Given the description of an element on the screen output the (x, y) to click on. 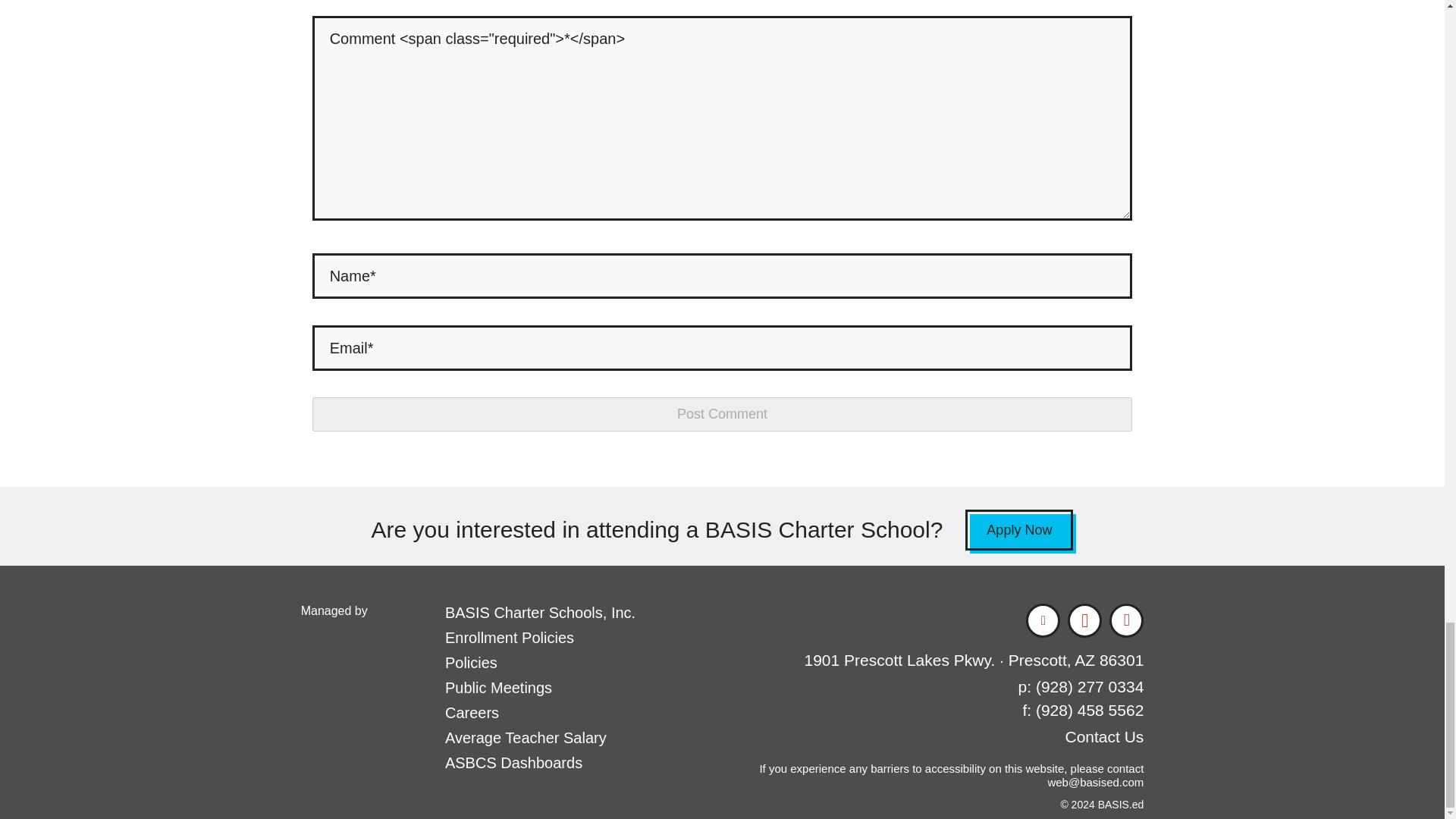
Post Comment (722, 414)
Instagram (1126, 620)
Public Meetings (498, 687)
Post Comment (722, 414)
Arizona (1084, 660)
Parkway (973, 660)
Contact Us (1103, 736)
Twitter (1042, 620)
Policies (471, 662)
Average Teacher Salary (526, 737)
Apply Now (1019, 529)
Careers (472, 712)
ASBCS Dashboards (513, 762)
Enrollment Policies (509, 637)
Facebook (1084, 620)
